Given the description of an element on the screen output the (x, y) to click on. 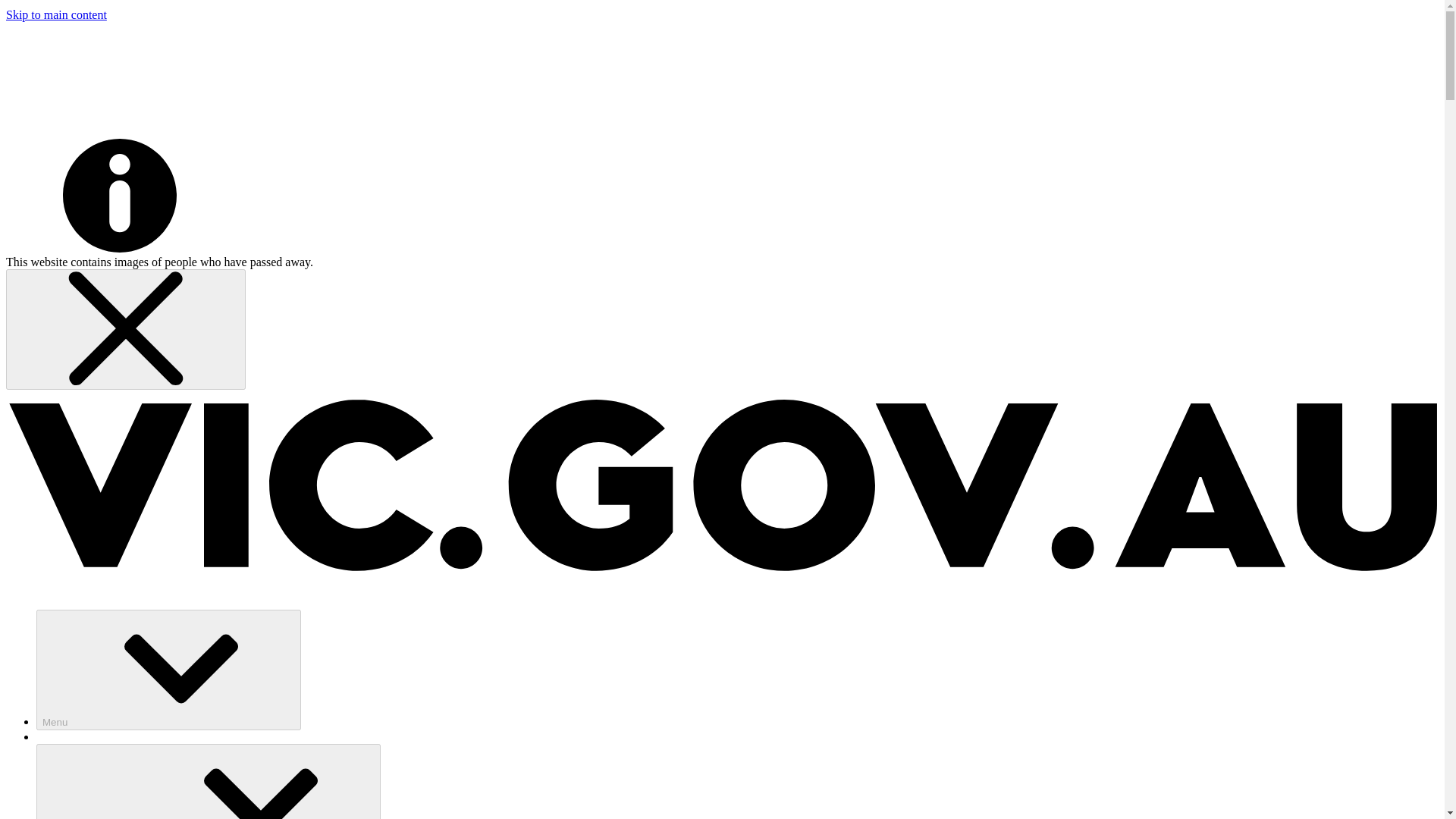
Dismiss alert (125, 329)
Skip to main content (55, 14)
Dismiss alert (125, 327)
